Given the description of an element on the screen output the (x, y) to click on. 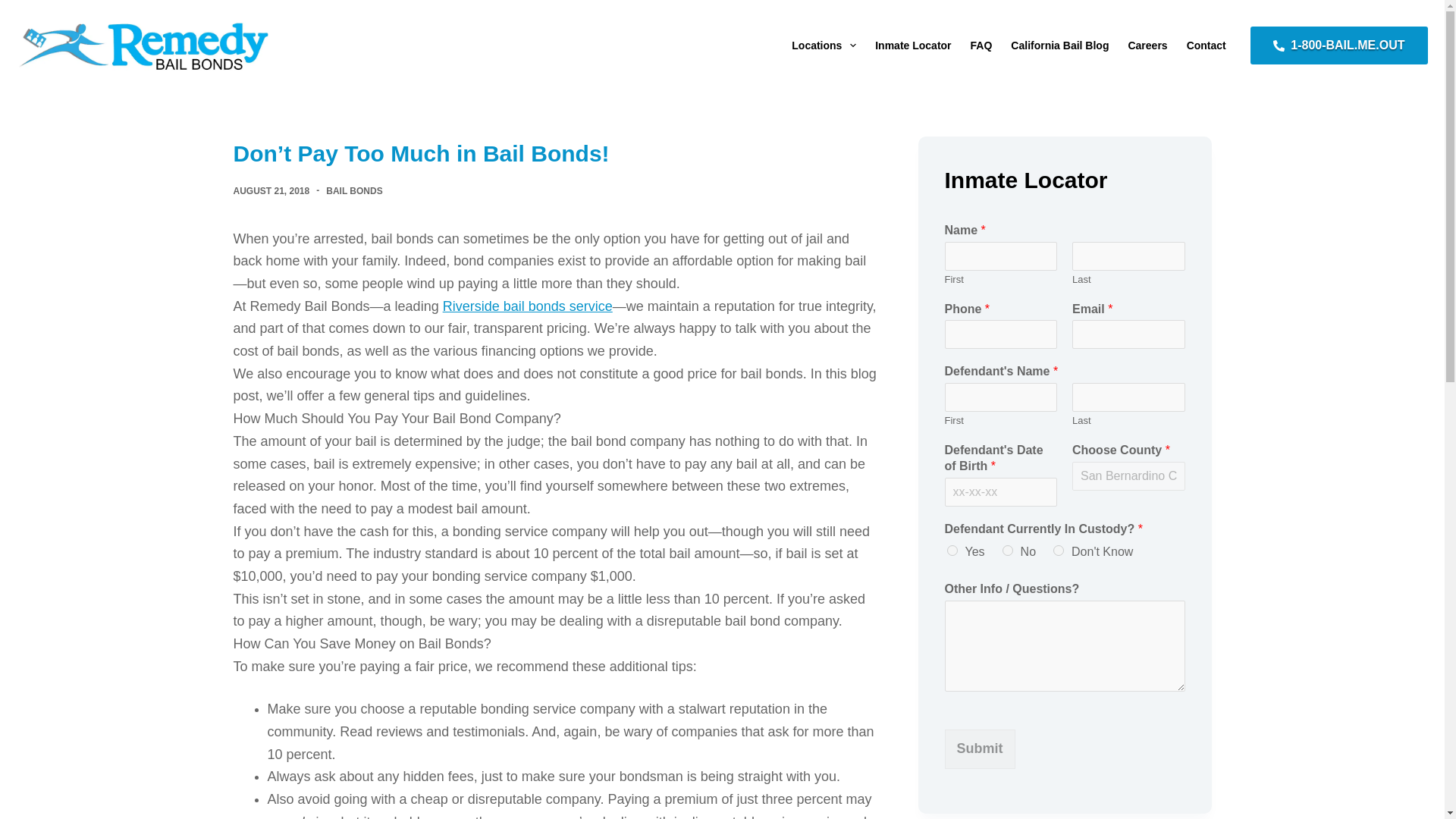
No (1008, 550)
California Bail Blog (1059, 45)
1-800-BAIL.ME.OUT (1338, 45)
Locations (824, 45)
Inmate Locator (913, 45)
Submit (979, 749)
Careers (1147, 45)
Skip to content (15, 7)
Contact (1205, 45)
FAQ (980, 45)
BAIL BONDS (353, 190)
Don't Know (1058, 550)
Riverside bail bonds service (527, 305)
Yes (951, 550)
